Given the description of an element on the screen output the (x, y) to click on. 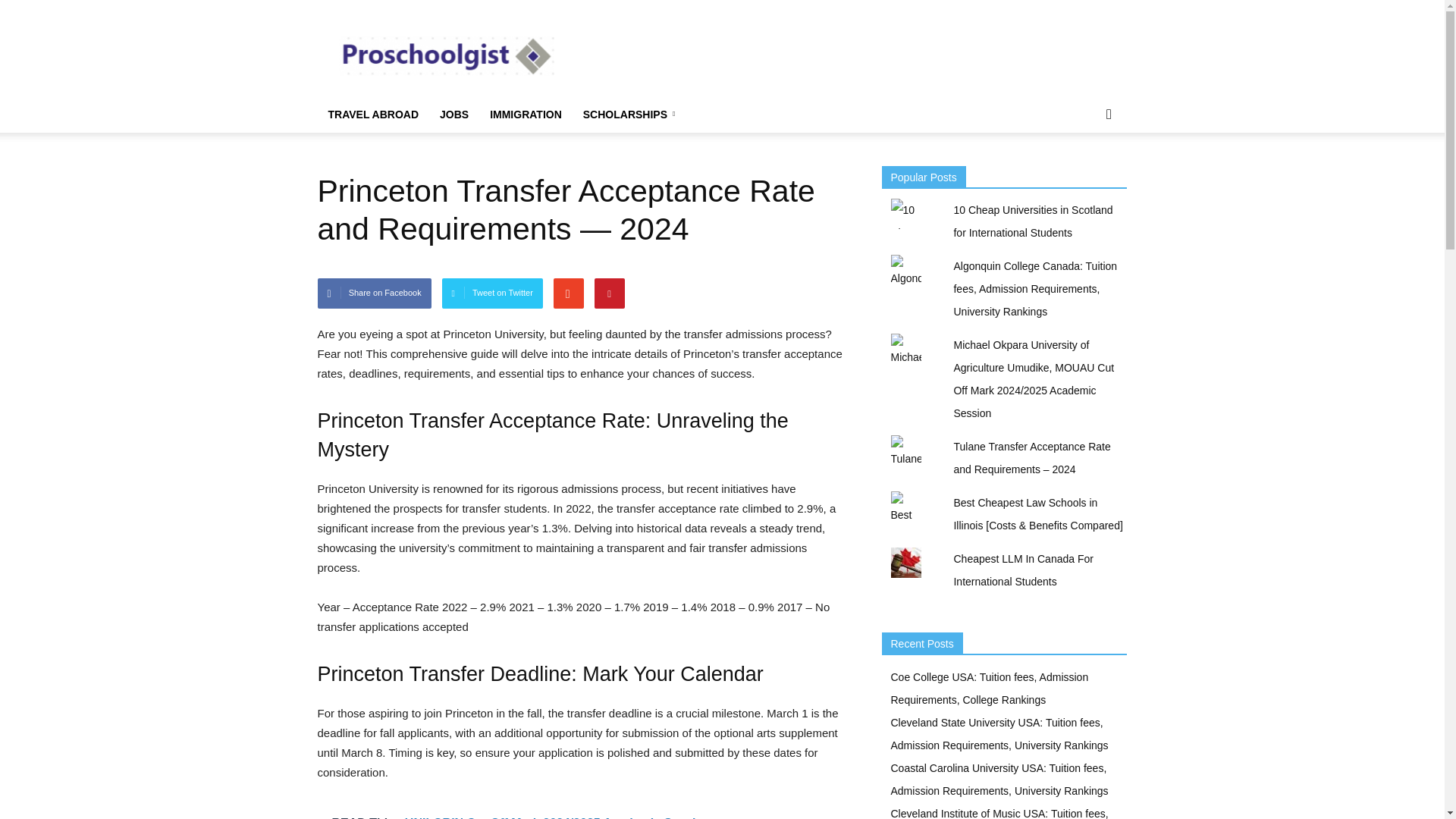
SCHOLARSHIPS (631, 114)
Search (1085, 174)
JOBS (454, 114)
10 Cheap Universities in Scotland for International Students (1032, 221)
IMMIGRATION (525, 114)
Express Entry Canada (445, 55)
TRAVEL ABROAD (373, 114)
Tweet on Twitter (492, 293)
Share on Facebook (373, 293)
